Given the description of an element on the screen output the (x, y) to click on. 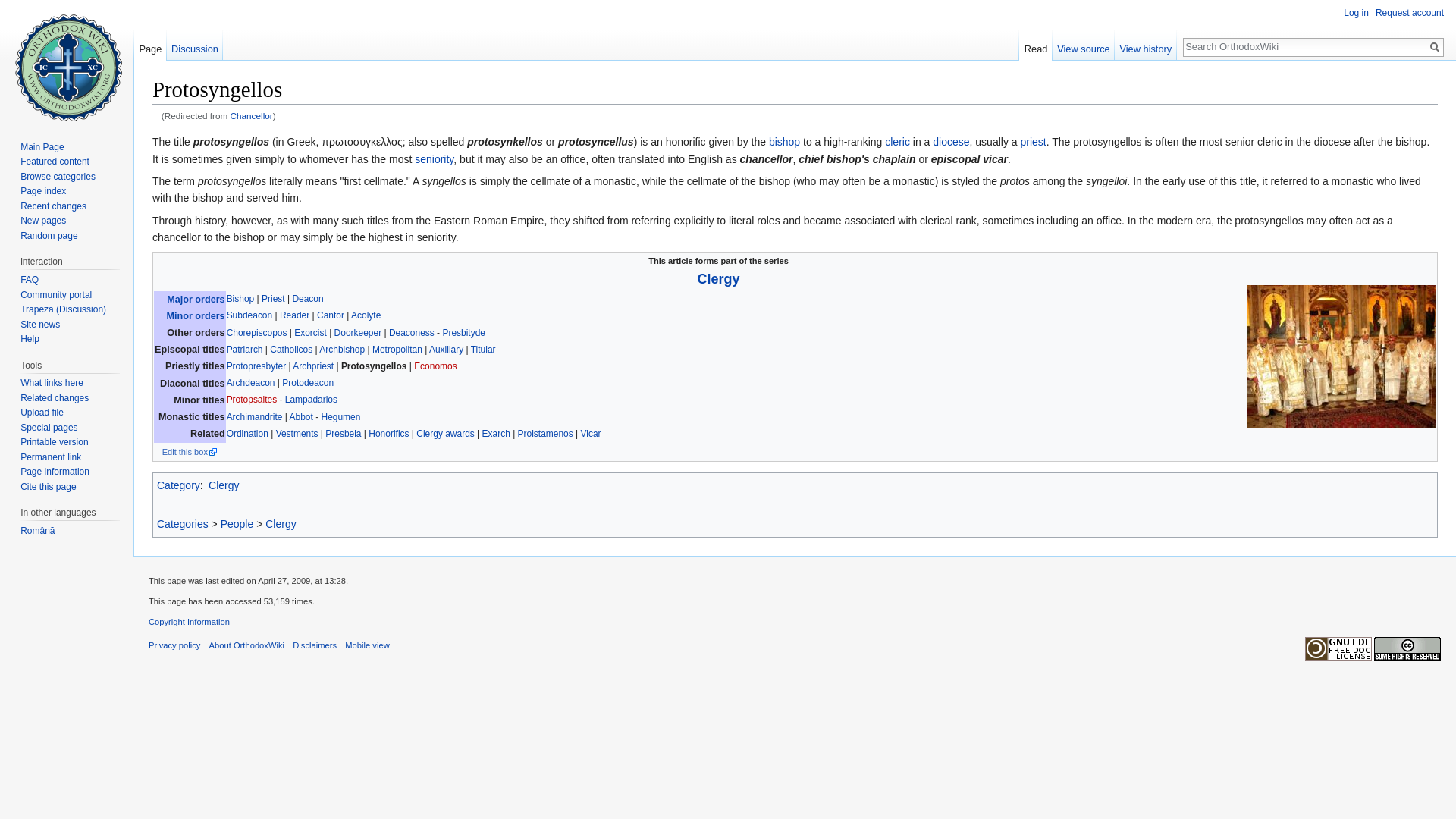
diocese (951, 141)
Acolyte (365, 315)
Priest (1032, 141)
Cantor (330, 315)
Patriarch (245, 348)
Chorepiscopos (256, 332)
Priest (273, 298)
Clergy (718, 278)
Chorepiscopos (256, 332)
Deacon (307, 298)
Deacon (307, 298)
Presbeia (433, 159)
Presbityde (463, 332)
Bishop (783, 141)
Go (1434, 46)
